Given the description of an element on the screen output the (x, y) to click on. 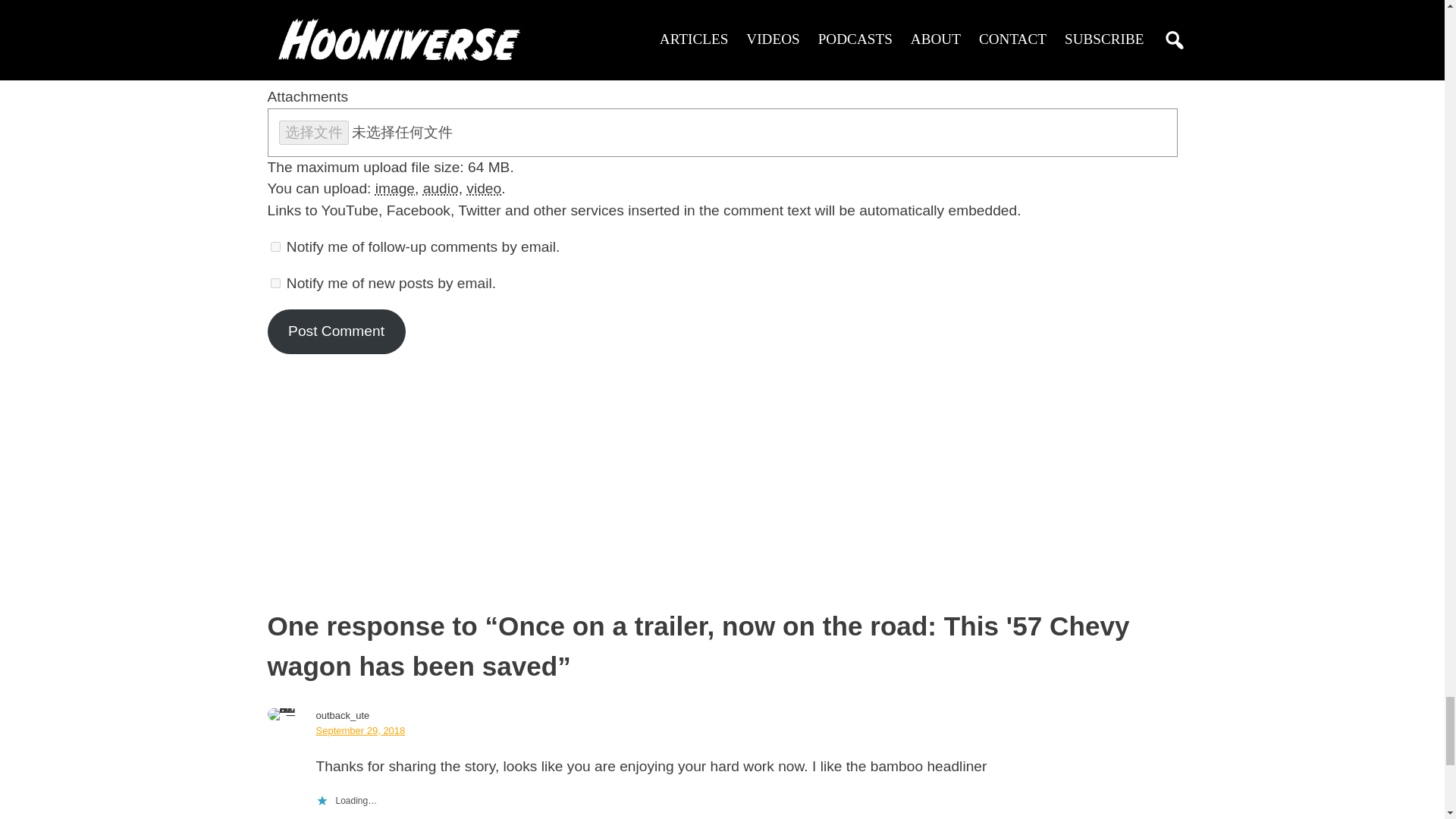
subscribe (274, 283)
jpg, jpeg, jpe, gif, png, bmp, tiff, tif, ico, heic (394, 188)
Post Comment (335, 330)
subscribe (274, 246)
September 29, 2018 (359, 730)
mp3, m4a, m4b, aac, ram, wav, ogg, oga, flac, wma, mka (440, 188)
Post Comment (335, 330)
